Given the description of an element on the screen output the (x, y) to click on. 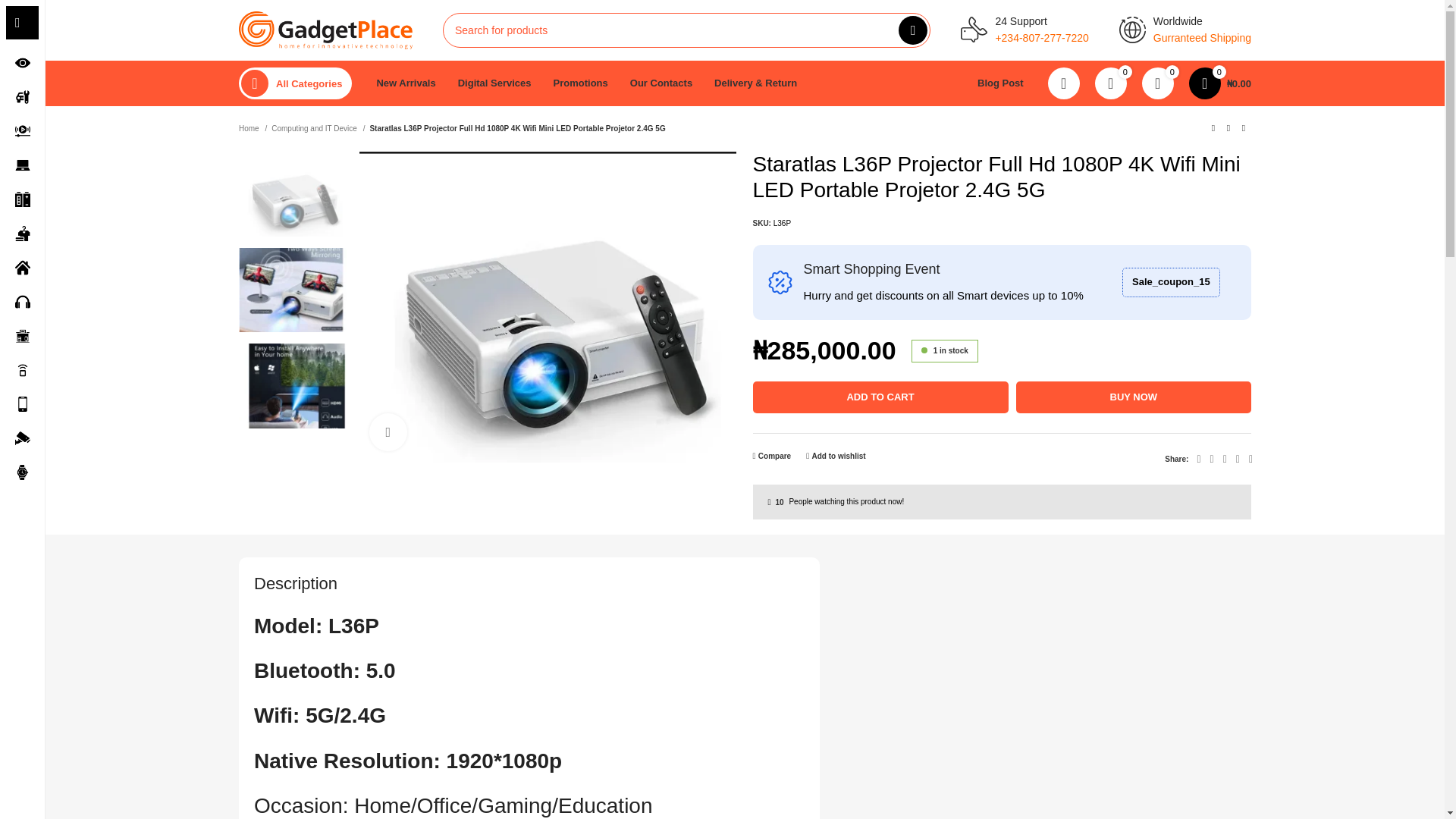
Search for products (686, 30)
My Wishlist (1157, 82)
Shopping cart (1219, 82)
4k wifi (547, 306)
Compare products (1110, 82)
My account (1064, 82)
promotions (779, 282)
